Given the description of an element on the screen output the (x, y) to click on. 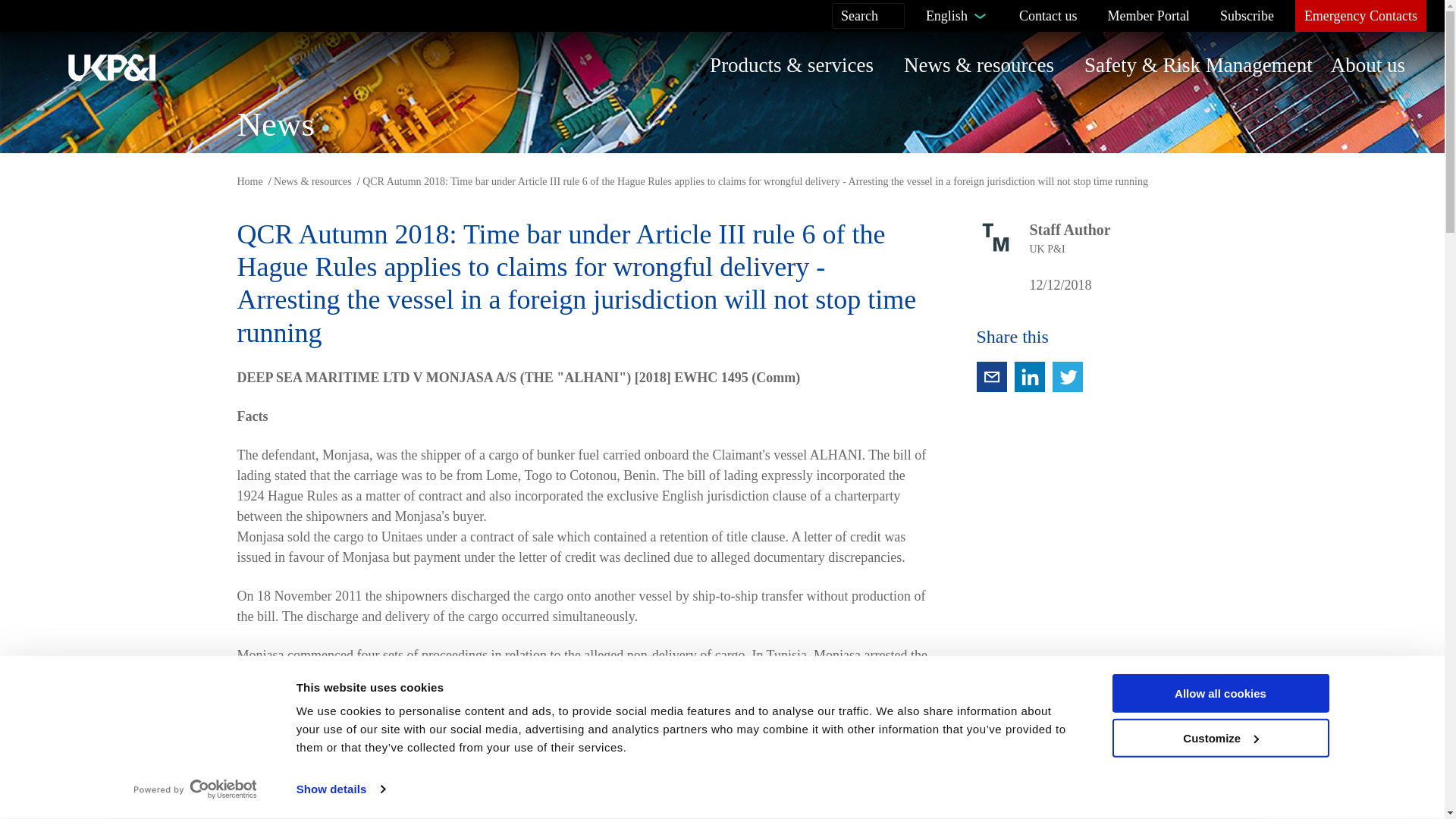
Show details (340, 789)
Customize (1219, 738)
Allow all cookies (1219, 693)
